Given the description of an element on the screen output the (x, y) to click on. 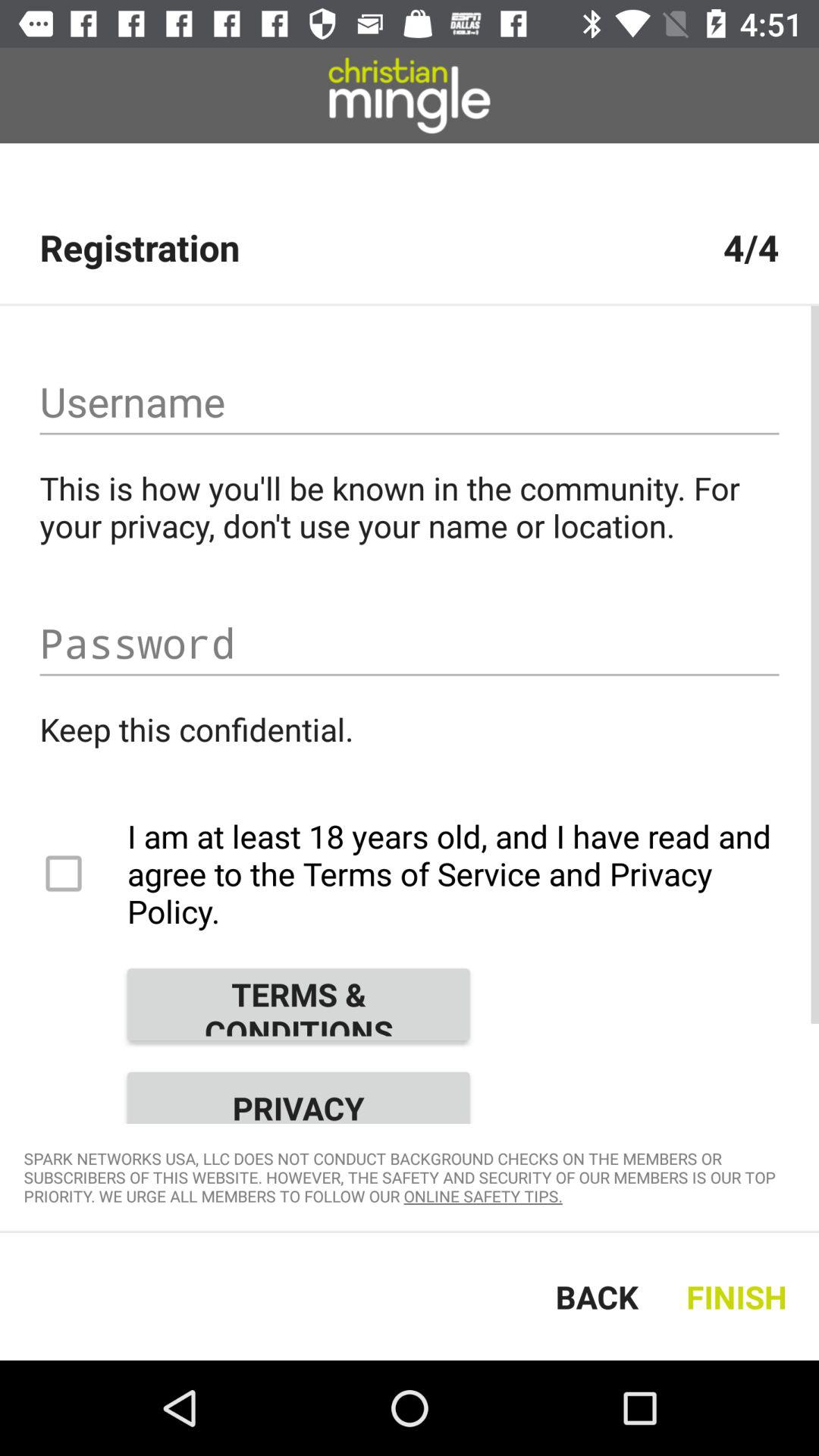
enter new username (409, 401)
